Given the description of an element on the screen output the (x, y) to click on. 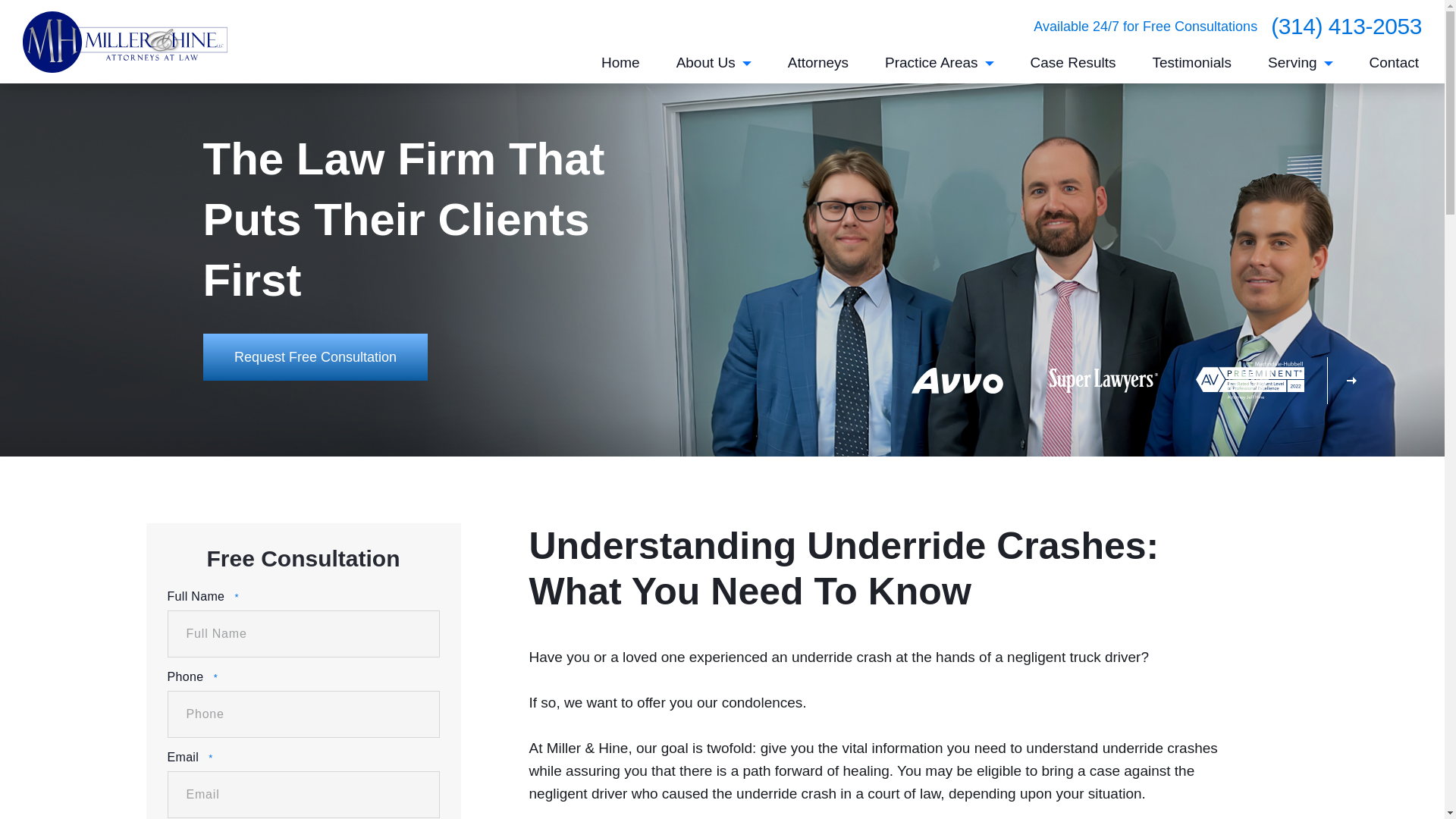
Attorneys (817, 68)
Home (620, 68)
Testimonials (1192, 68)
About Us (714, 68)
Serving (1300, 68)
Case Results (1073, 68)
Practice Areas (939, 68)
